Given the description of an element on the screen output the (x, y) to click on. 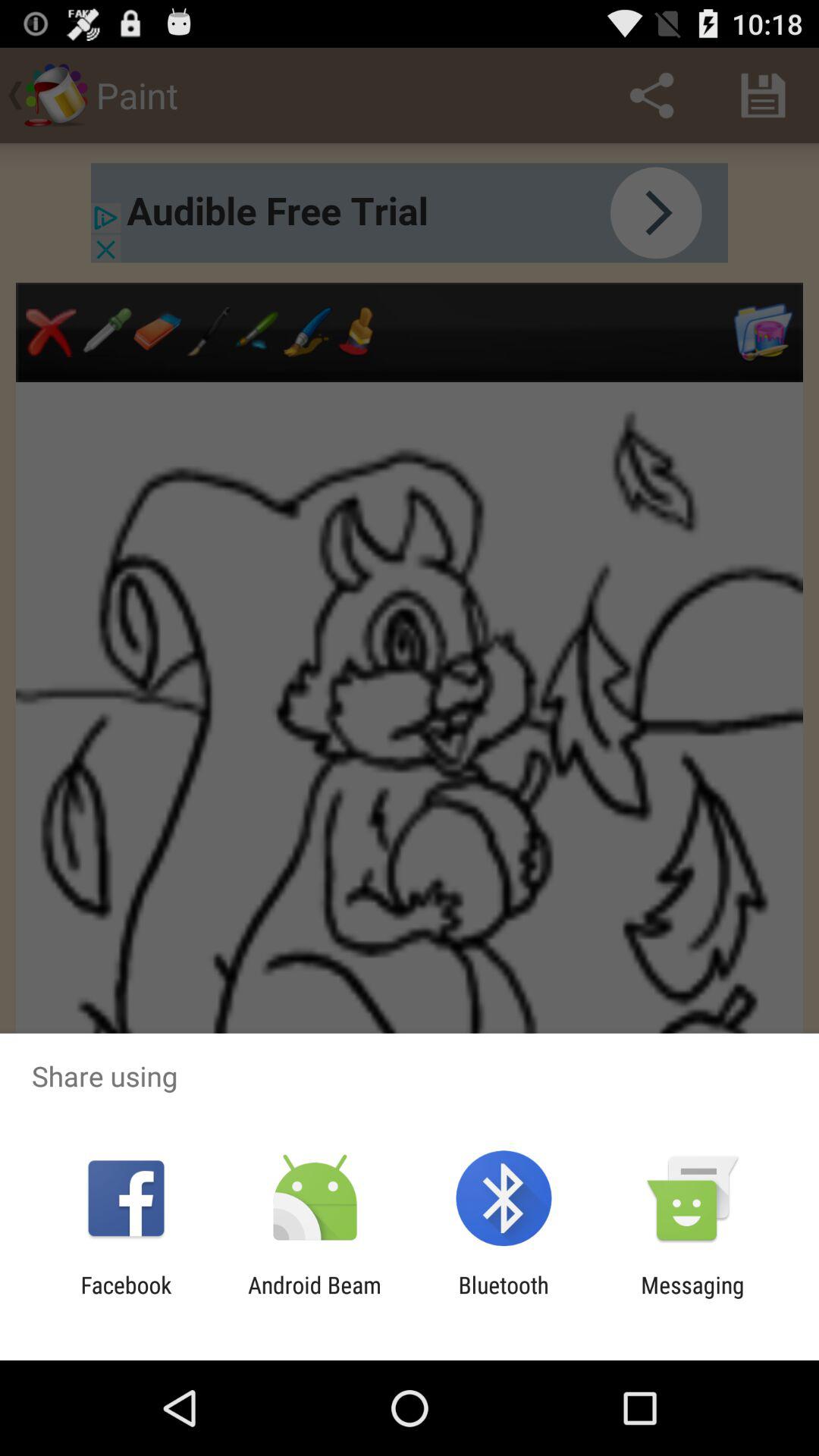
click icon next to the facebook item (314, 1298)
